Given the description of an element on the screen output the (x, y) to click on. 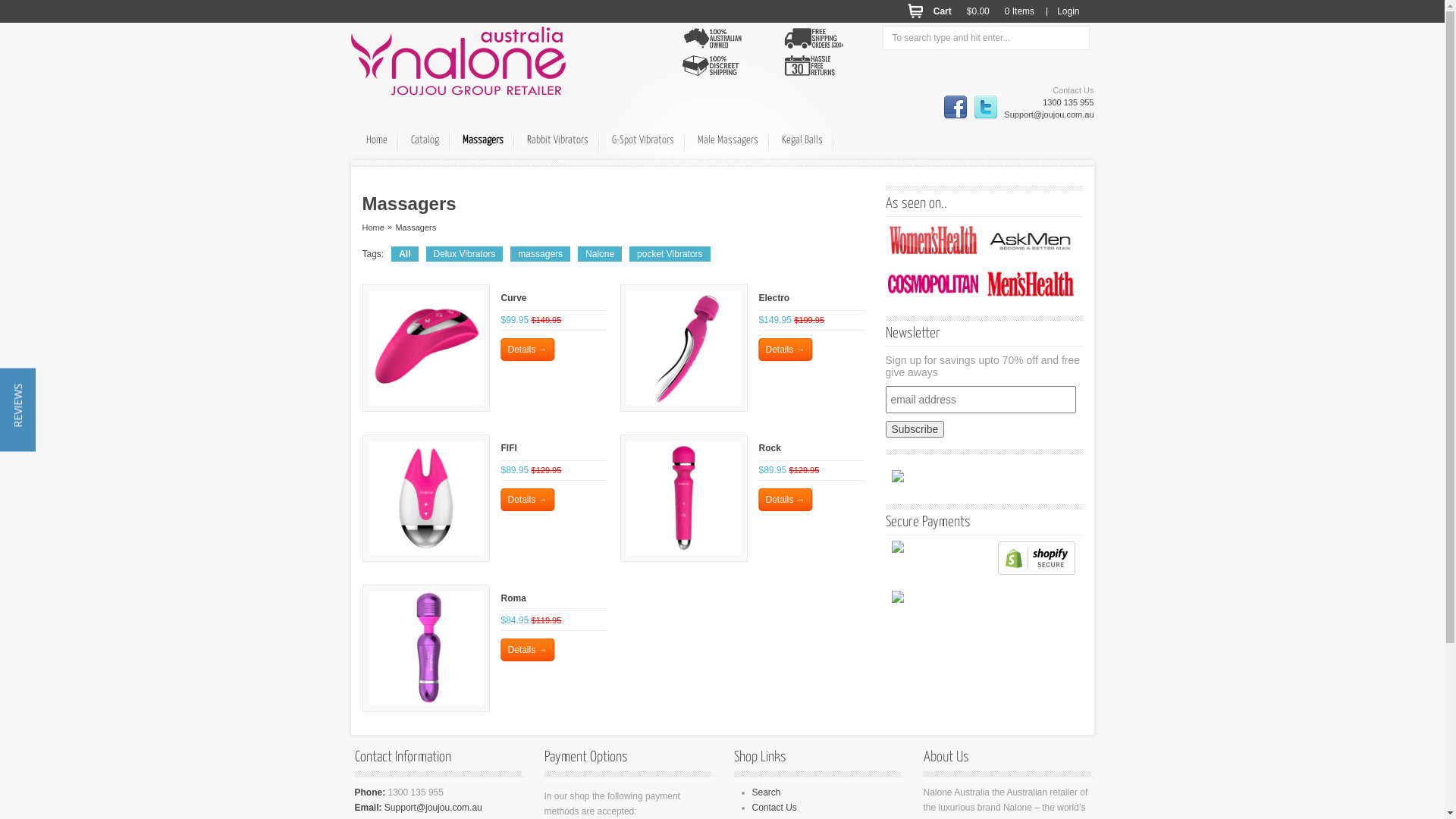
$0.00 Element type: text (977, 11)
pocket Vibrators Element type: text (669, 253)
Subscribe Element type: text (914, 428)
Nalone Element type: text (599, 253)
FIFI Element type: text (508, 447)
Massagers Element type: text (482, 140)
Delux Vibrators Element type: text (464, 253)
Roma Element type: text (512, 598)
Support@joujou.com.au Element type: text (1048, 114)
Search Element type: text (766, 792)
massagers Element type: text (540, 253)
Curve Element type: text (513, 297)
G-Spot Vibrators Element type: text (641, 140)
To search type and hit enter... Element type: text (985, 37)
Male Massagers Element type: text (727, 140)
Home Element type: text (375, 140)
Support@joujou.com.au Element type: text (432, 807)
Kegal Balls Element type: text (800, 140)
Catalog Element type: text (424, 140)
Facebook Element type: text (955, 107)
Rabbit Vibrators Element type: text (556, 140)
Rock Element type: text (769, 447)
0 Items Element type: text (1019, 11)
Cart Element type: text (942, 11)
Login Element type: text (1068, 11)
Electro Element type: text (773, 297)
All Element type: text (404, 253)
Twitter Element type: text (985, 107)
Search Element type: text (20, 7)
This online store is secured by Shopify Element type: hover (1036, 577)
Contact Us Element type: text (774, 807)
Home Element type: text (373, 227)
